Given the description of an element on the screen output the (x, y) to click on. 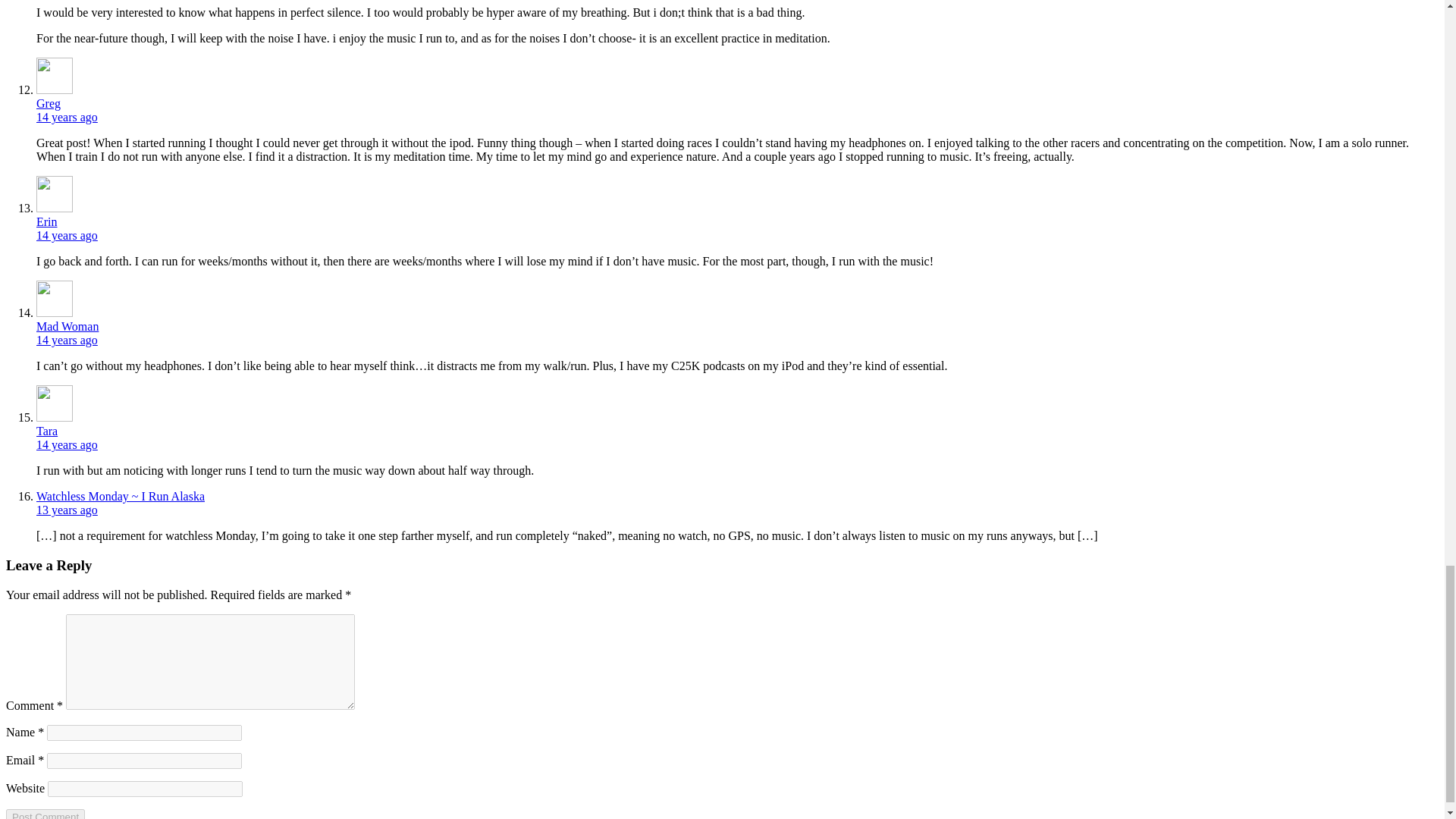
Greg (48, 103)
14 years ago (66, 235)
14 years ago (66, 116)
Mad Woman (67, 326)
Erin (47, 221)
Friday, June 25th, 2010 7:26am AKDT (66, 116)
Friday, June 25th, 2010 5:34pm AKDT (66, 235)
